Given the description of an element on the screen output the (x, y) to click on. 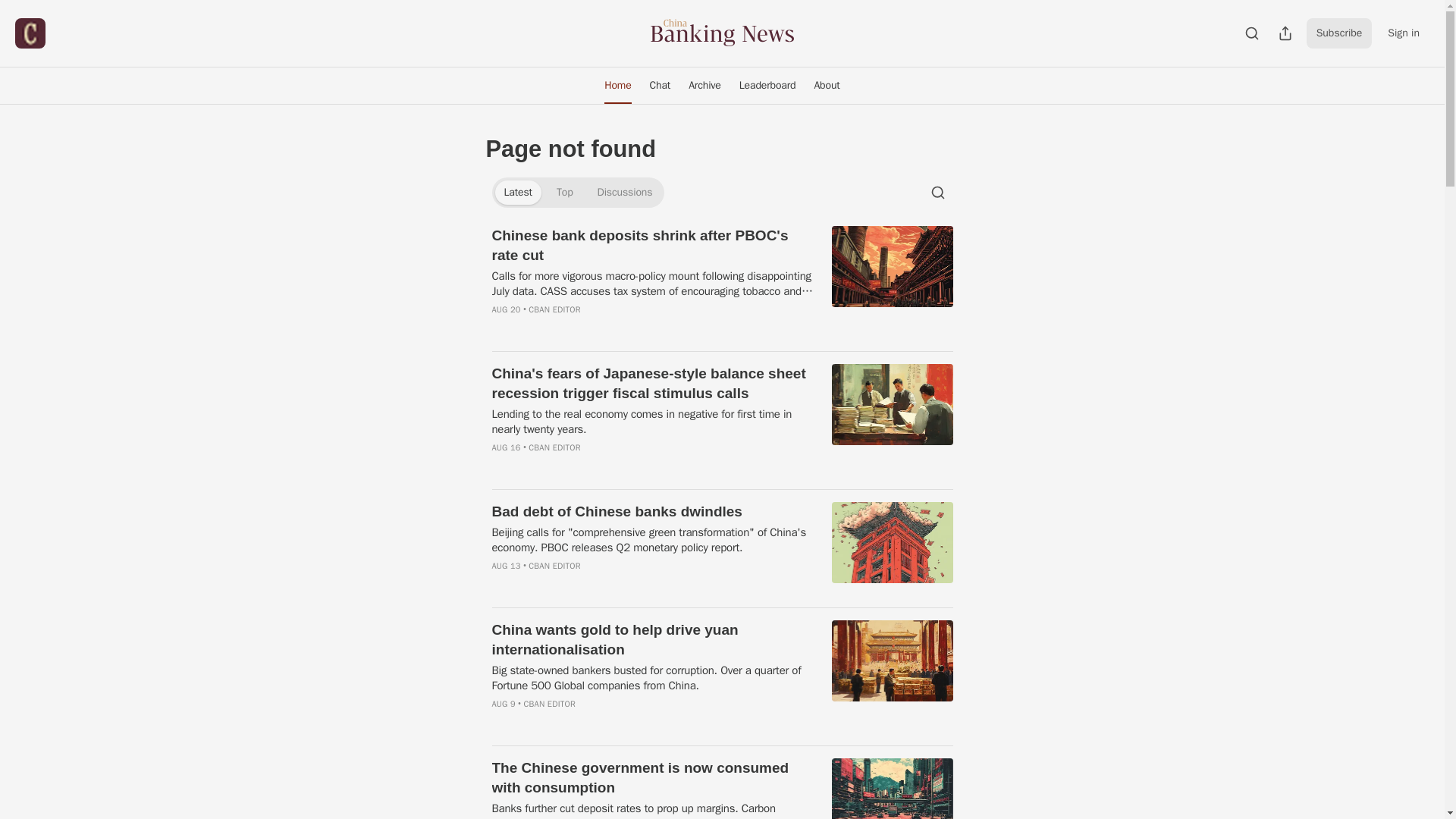
Top (564, 192)
Archive (704, 85)
About (826, 85)
Chat (659, 85)
Home (617, 85)
Discussions (625, 192)
Subscribe (1339, 33)
CBAN EDITOR (553, 308)
